Given the description of an element on the screen output the (x, y) to click on. 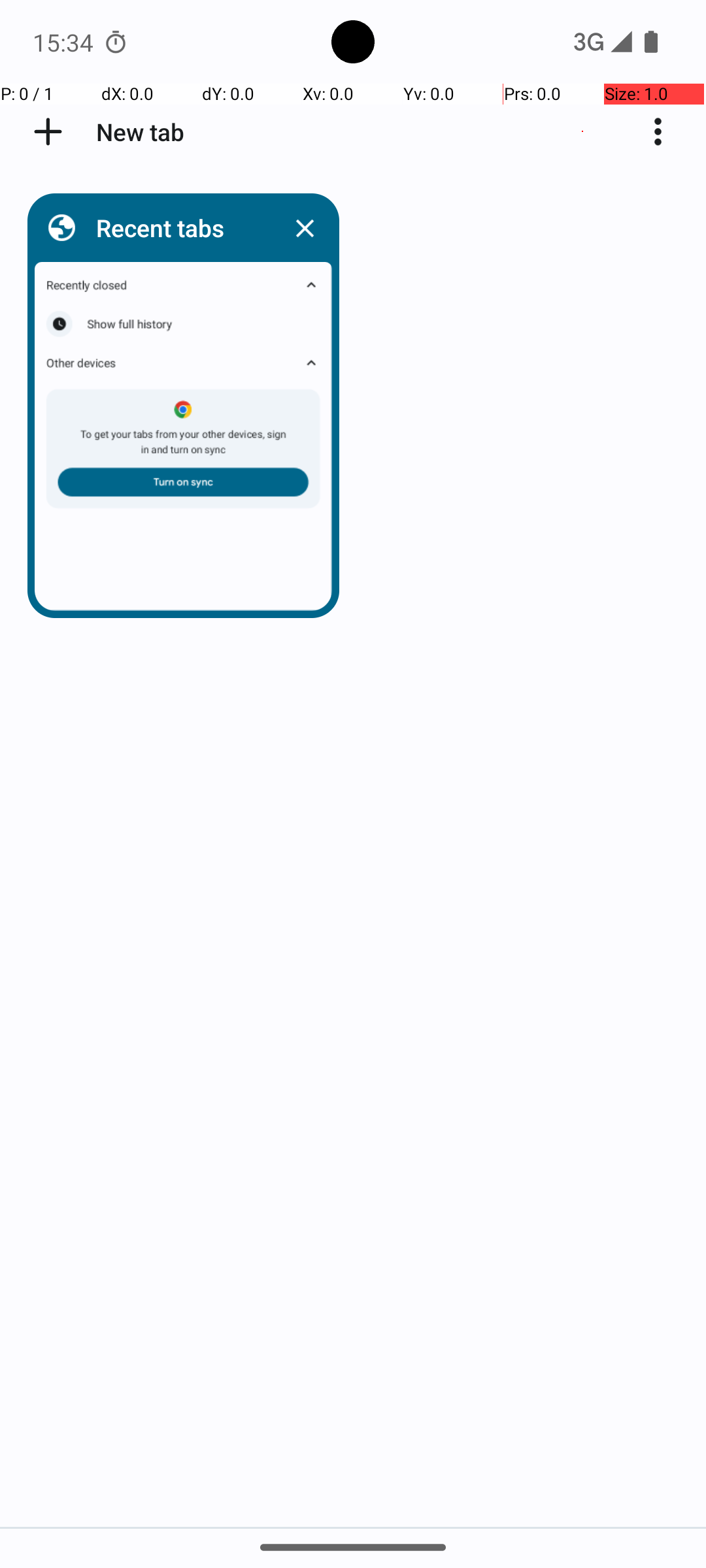
Recent tabs Element type: android.widget.TextView (179, 227)
Close Recent tabs tab Element type: android.widget.ImageView (304, 227)
